Given the description of an element on the screen output the (x, y) to click on. 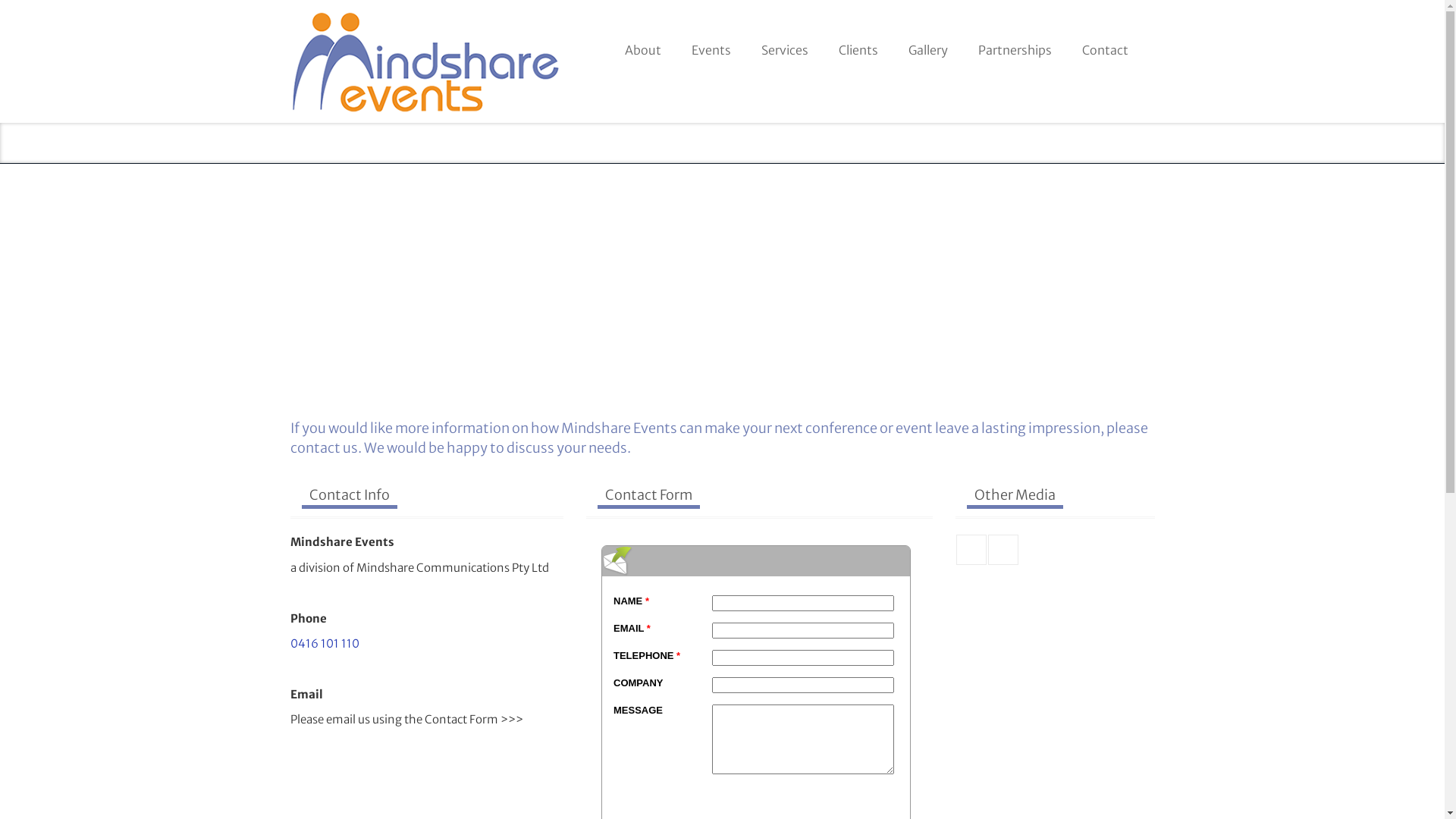
twitter Element type: text (971, 549)
Clients Element type: text (858, 44)
linkedin Element type: text (1003, 549)
Gallery Element type: text (928, 44)
Partnerships Element type: text (1014, 44)
About Element type: text (642, 44)
Events Element type: text (711, 44)
0416 101 110 Element type: text (323, 643)
Services Element type: text (784, 44)
Contact Element type: text (1104, 44)
0416 101 110 Element type: text (370, 143)
